Given the description of an element on the screen output the (x, y) to click on. 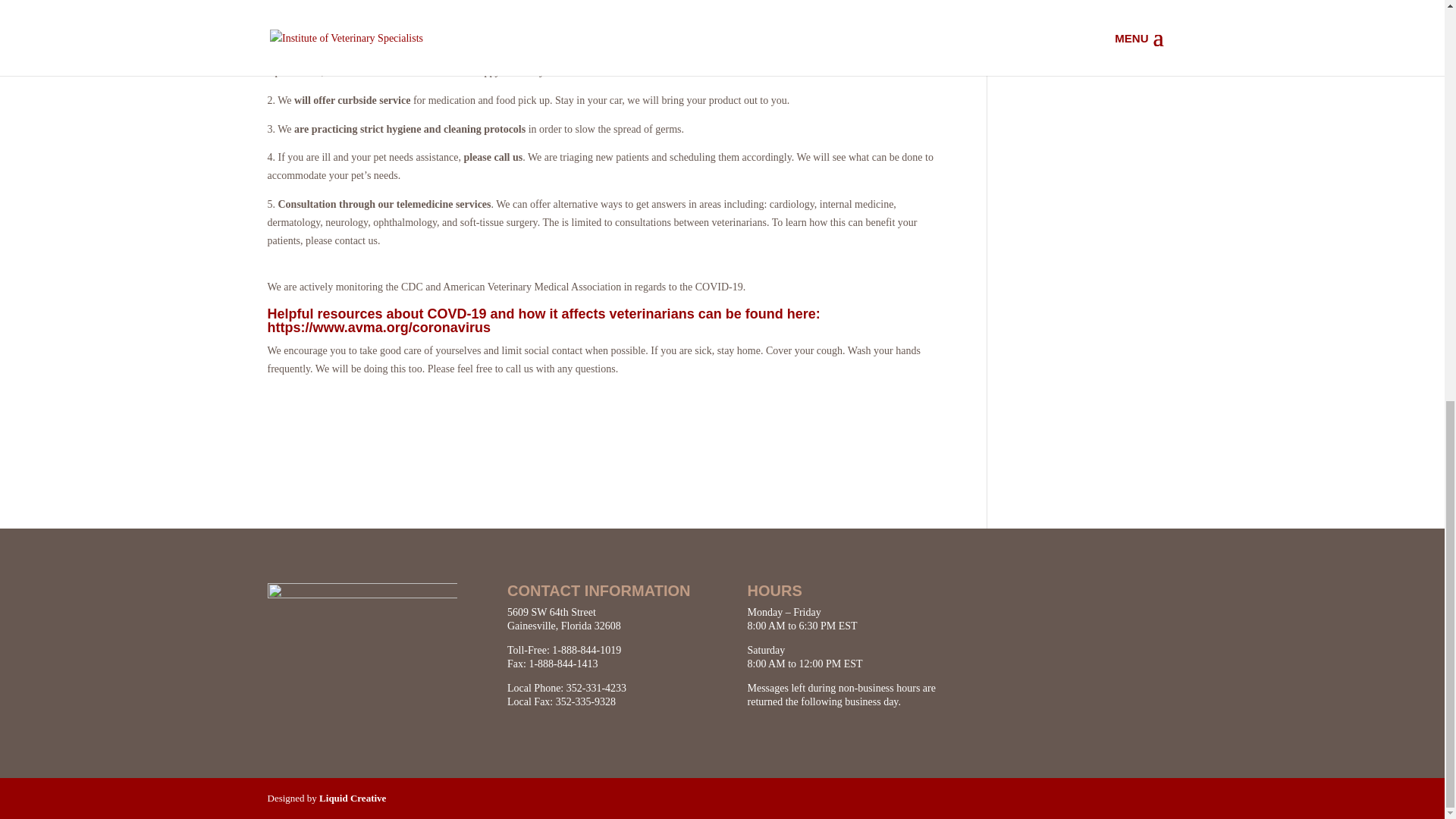
Liquid Creative (351, 797)
